Given the description of an element on the screen output the (x, y) to click on. 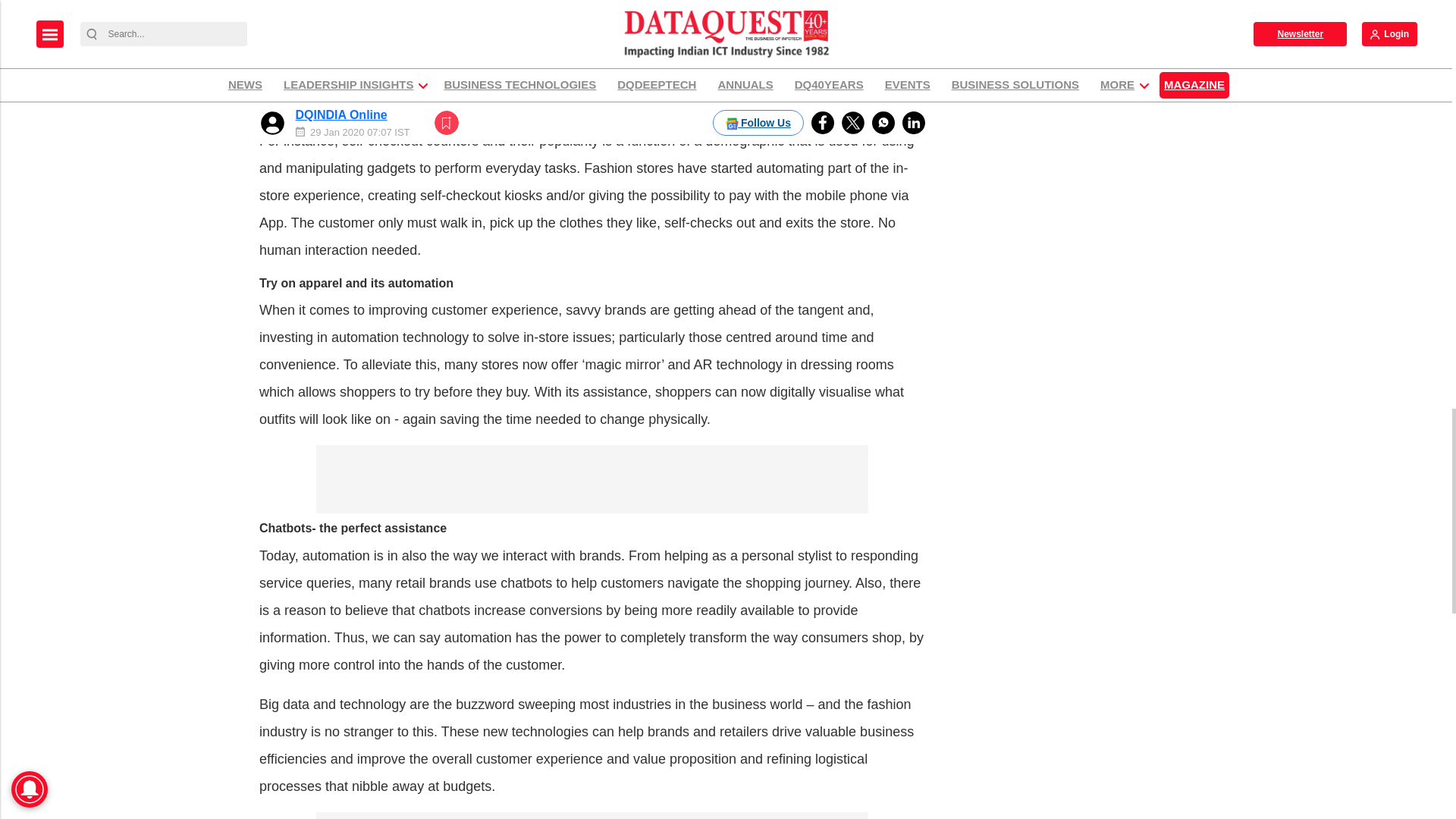
3rd party ad content (591, 479)
